Given the description of an element on the screen output the (x, y) to click on. 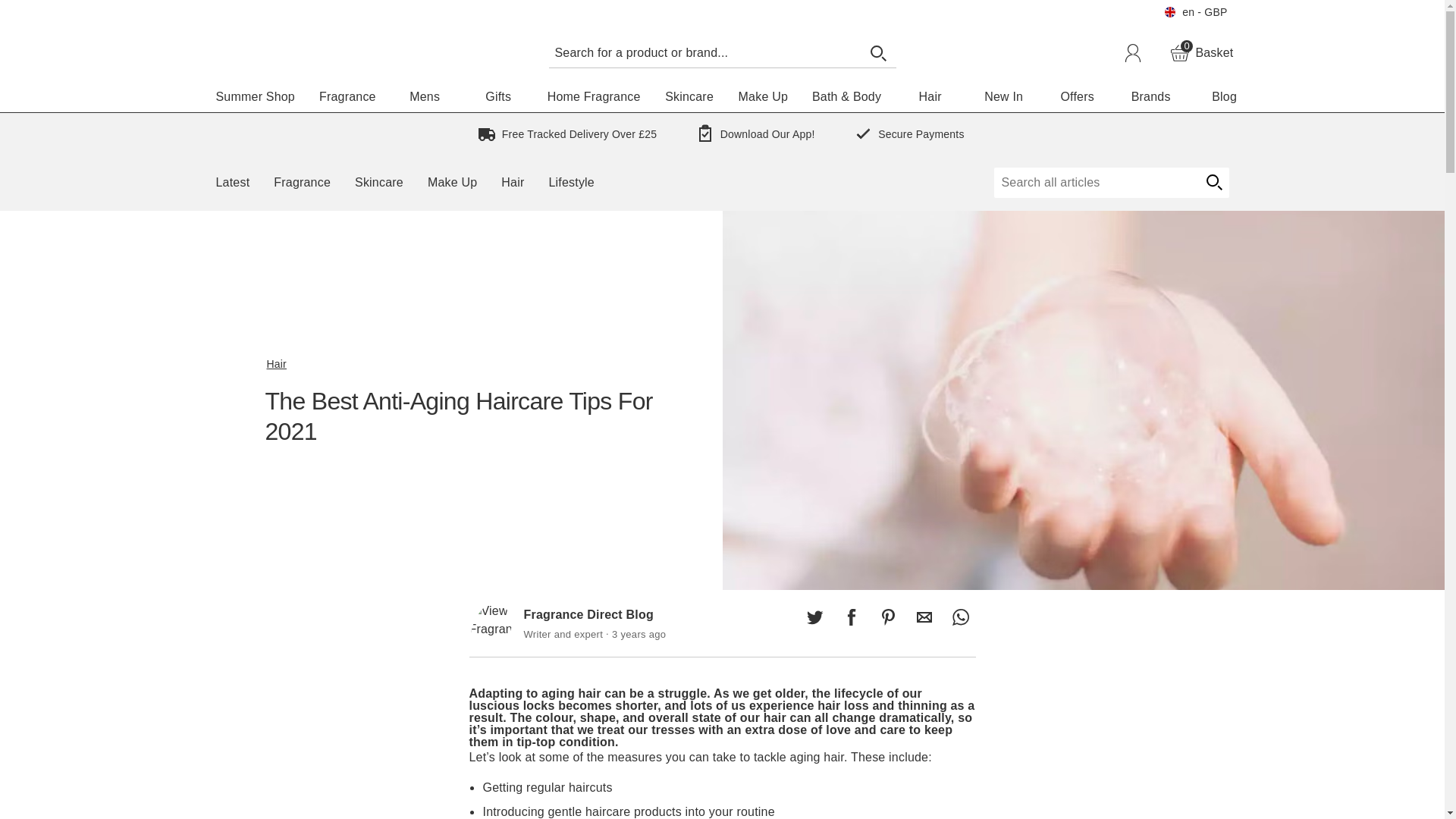
Search for a product or brand... (704, 52)
Share this by Email (923, 616)
en - GBP (1195, 12)
start article search (1213, 182)
Search Articles (1095, 182)
Share this on Facebook (850, 616)
Summer Shop (254, 96)
Share this on Pinterest (887, 616)
Fragrance (347, 96)
Skip to main content (56, 9)
Share this on Twitter (814, 616)
Fragrance Direct Blog (1201, 53)
Share this on WhatsApp (496, 646)
